Given the description of an element on the screen output the (x, y) to click on. 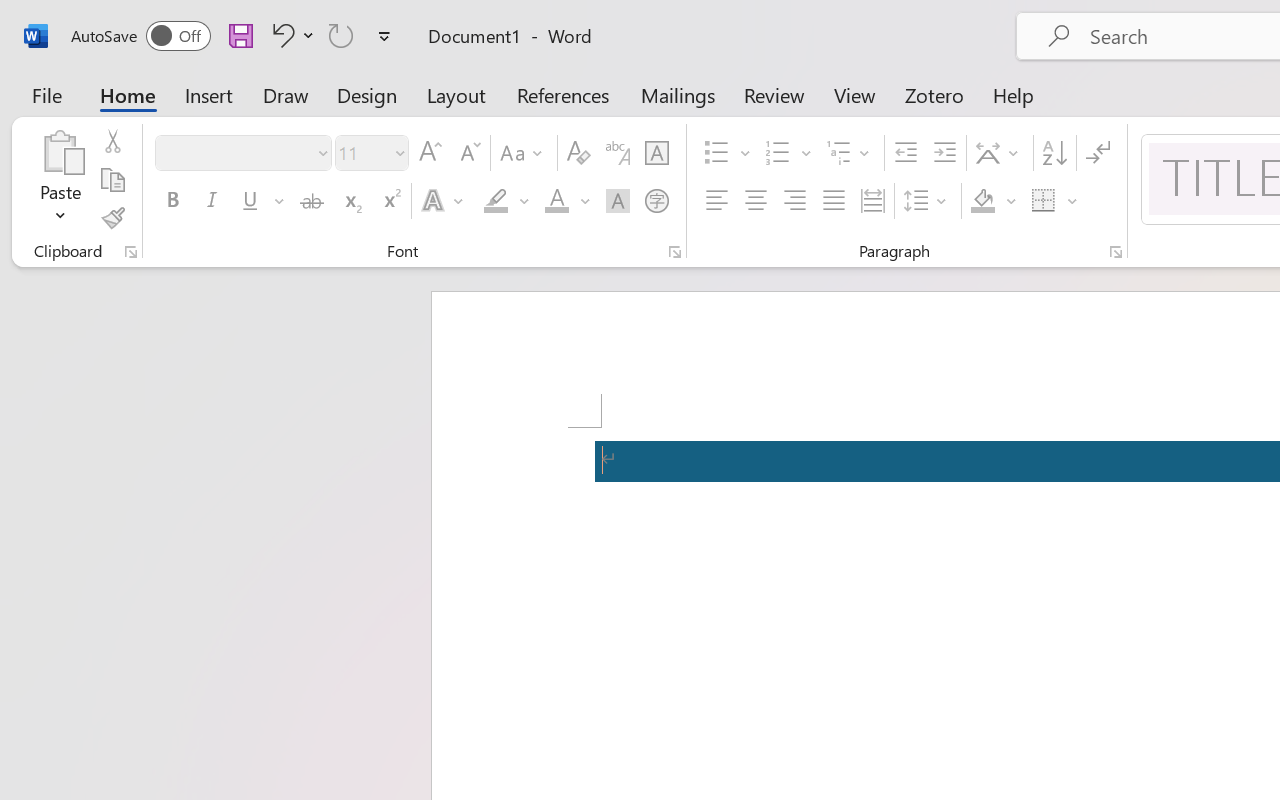
Text Highlight Color RGB(255, 255, 0) (495, 201)
